Given the description of an element on the screen output the (x, y) to click on. 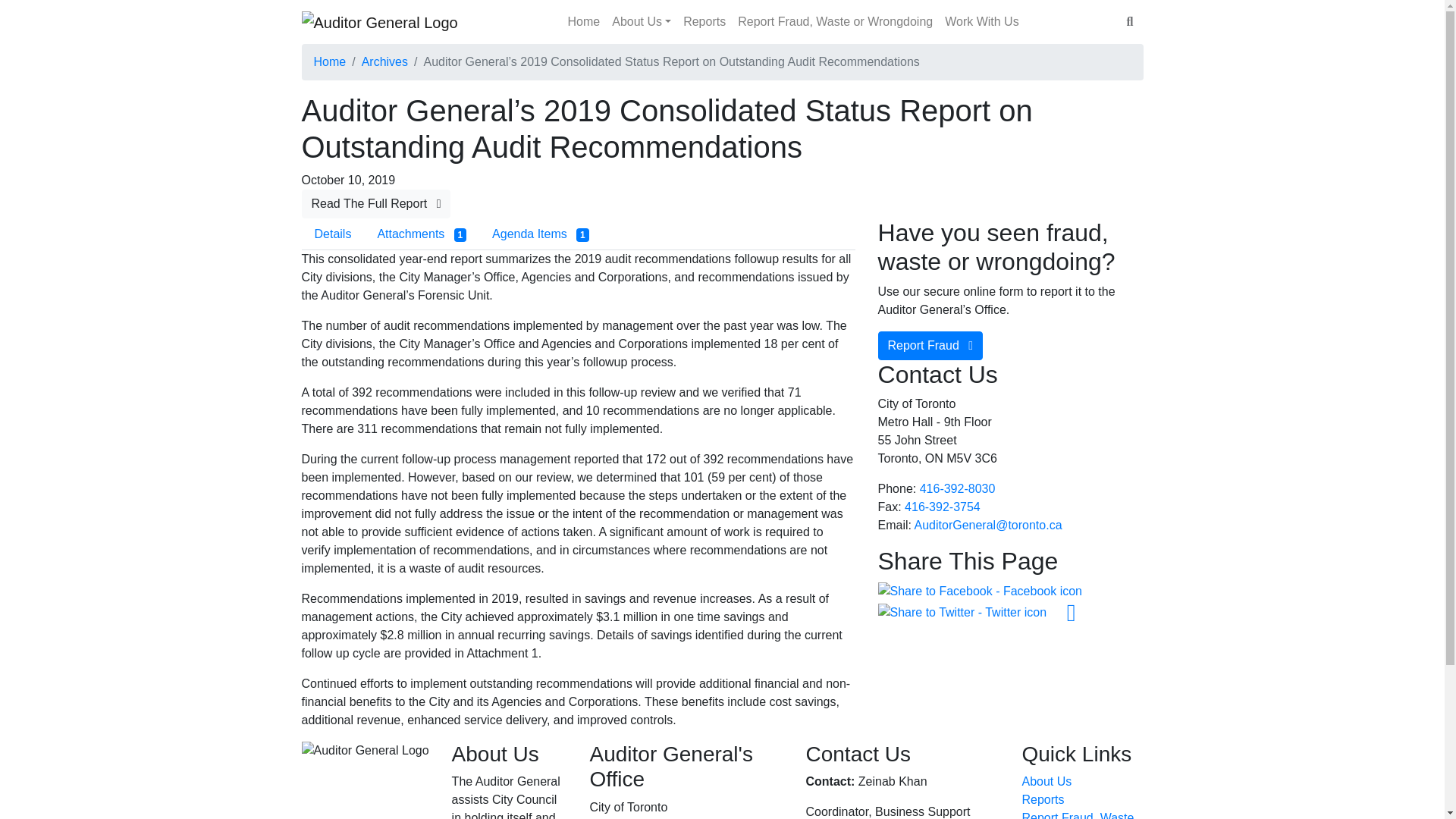
About Us (641, 21)
Work With Us (982, 21)
Home (584, 21)
Share to Twitter (961, 611)
Report Fraud, Waste or Wrongdoing (1078, 815)
Read The Full Report (376, 203)
Home (584, 21)
Share via Email (1071, 611)
Report Fraud, Waste or Wrongdoing (835, 21)
Open Search Form (1129, 21)
